Given the description of an element on the screen output the (x, y) to click on. 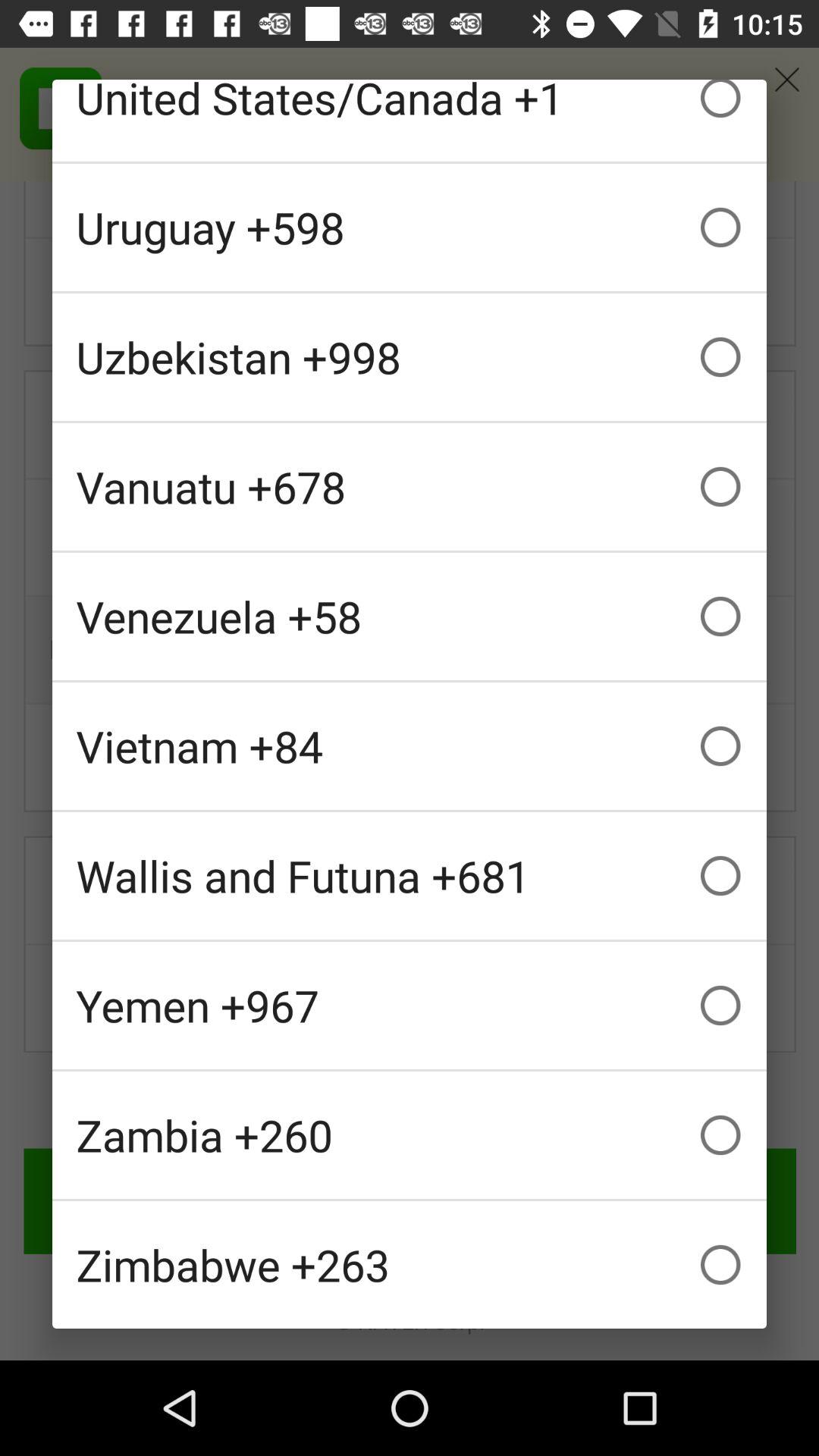
tap united states canada icon (409, 120)
